Given the description of an element on the screen output the (x, y) to click on. 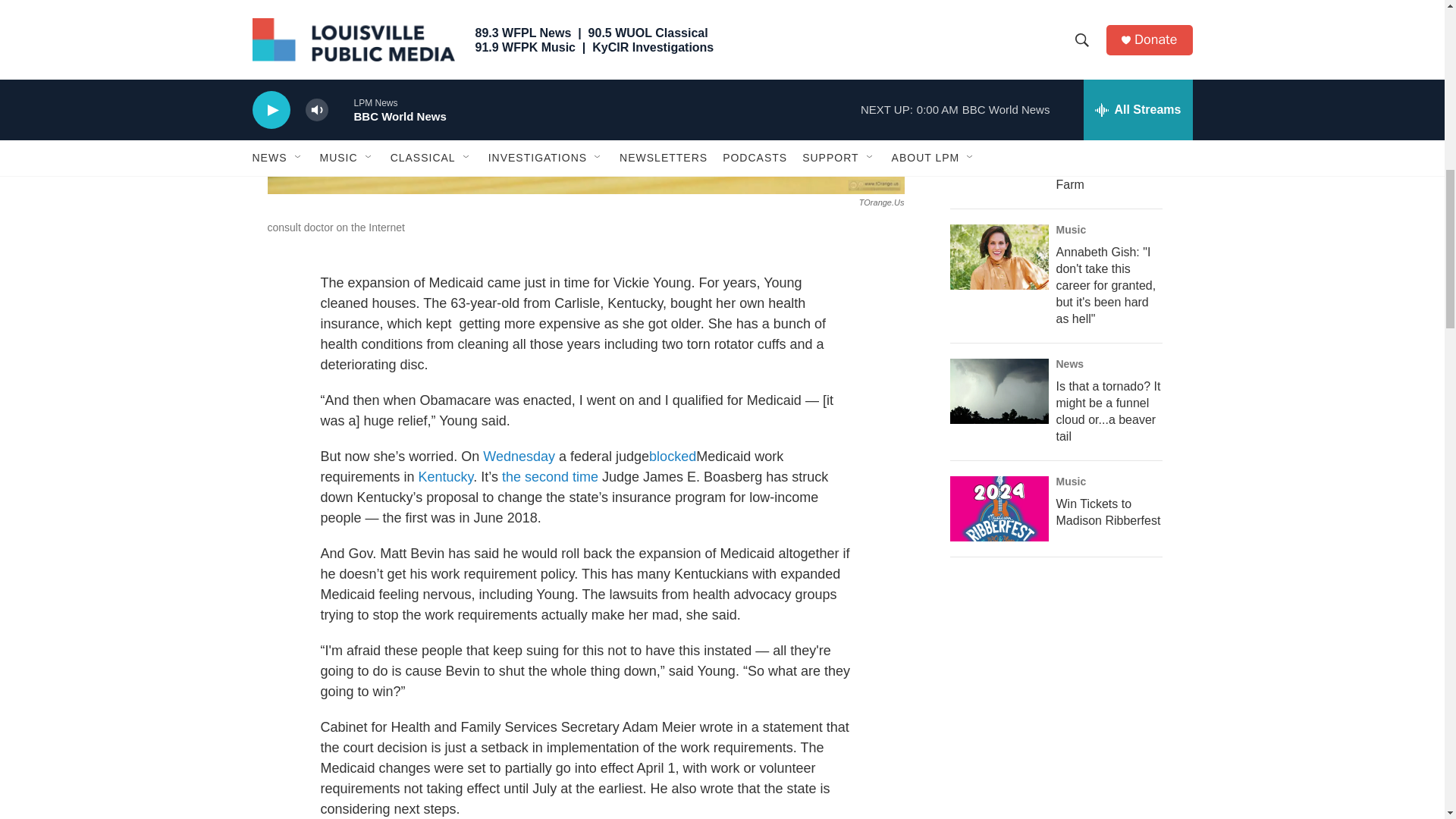
3rd party ad content (1062, 682)
3rd party ad content (1062, 813)
3rd party ad content (1062, 2)
